Given the description of an element on the screen output the (x, y) to click on. 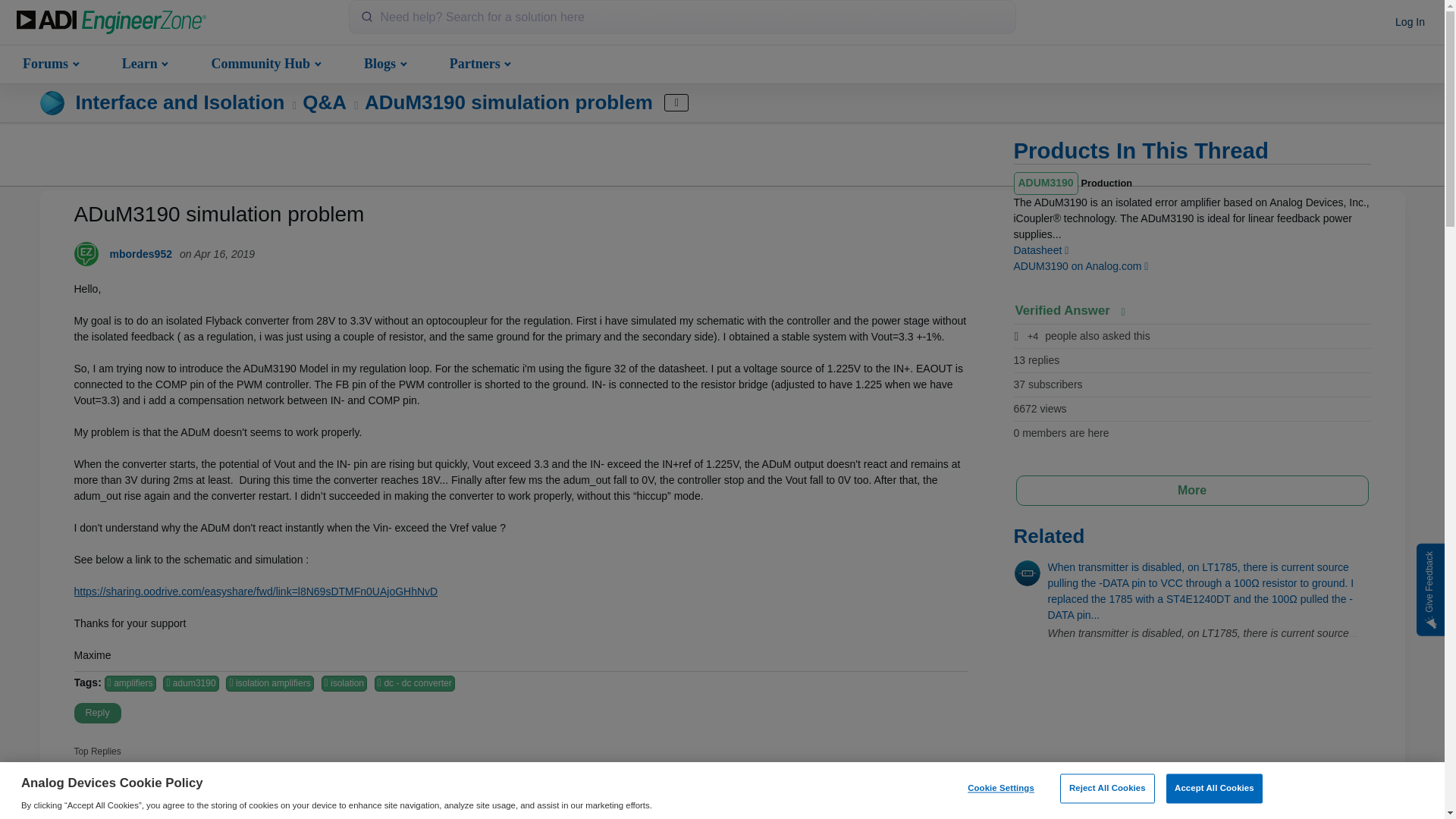
Analog Employees (195, 792)
Forums (49, 62)
Log In (1409, 22)
Join or sign in (1409, 22)
Home (111, 22)
